Given the description of an element on the screen output the (x, y) to click on. 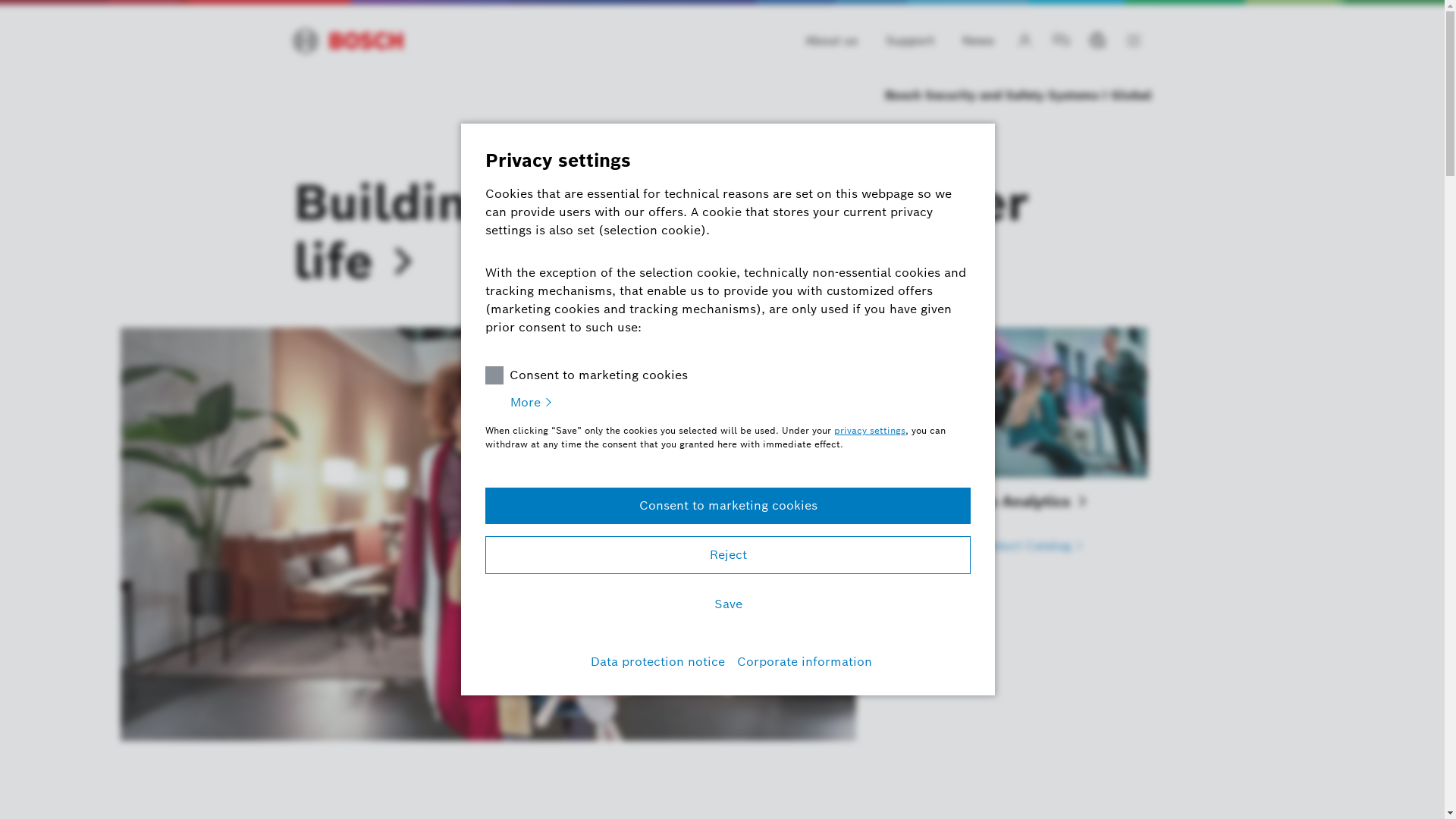
Websites worldwide Element type: hover (1096, 40)
Building solutions for a better life Element type: text (721, 232)
Menu Element type: hover (1132, 40)
Where to buy Element type: text (924, 655)
MyBosch Element type: hover (1023, 40)
About us Element type: text (831, 40)
Support Element type: text (909, 582)
Support Element type: text (909, 40)
Contact us Element type: hover (1060, 40)
AI-driven Audio Analytics Element type: text (1012, 431)
News Element type: text (977, 40)
Training Element type: text (908, 618)
right bold Element type: hover (402, 261)
Find your local Product Catalog Element type: text (980, 545)
right bold Element type: hover (1081, 500)
